Given the description of an element on the screen output the (x, y) to click on. 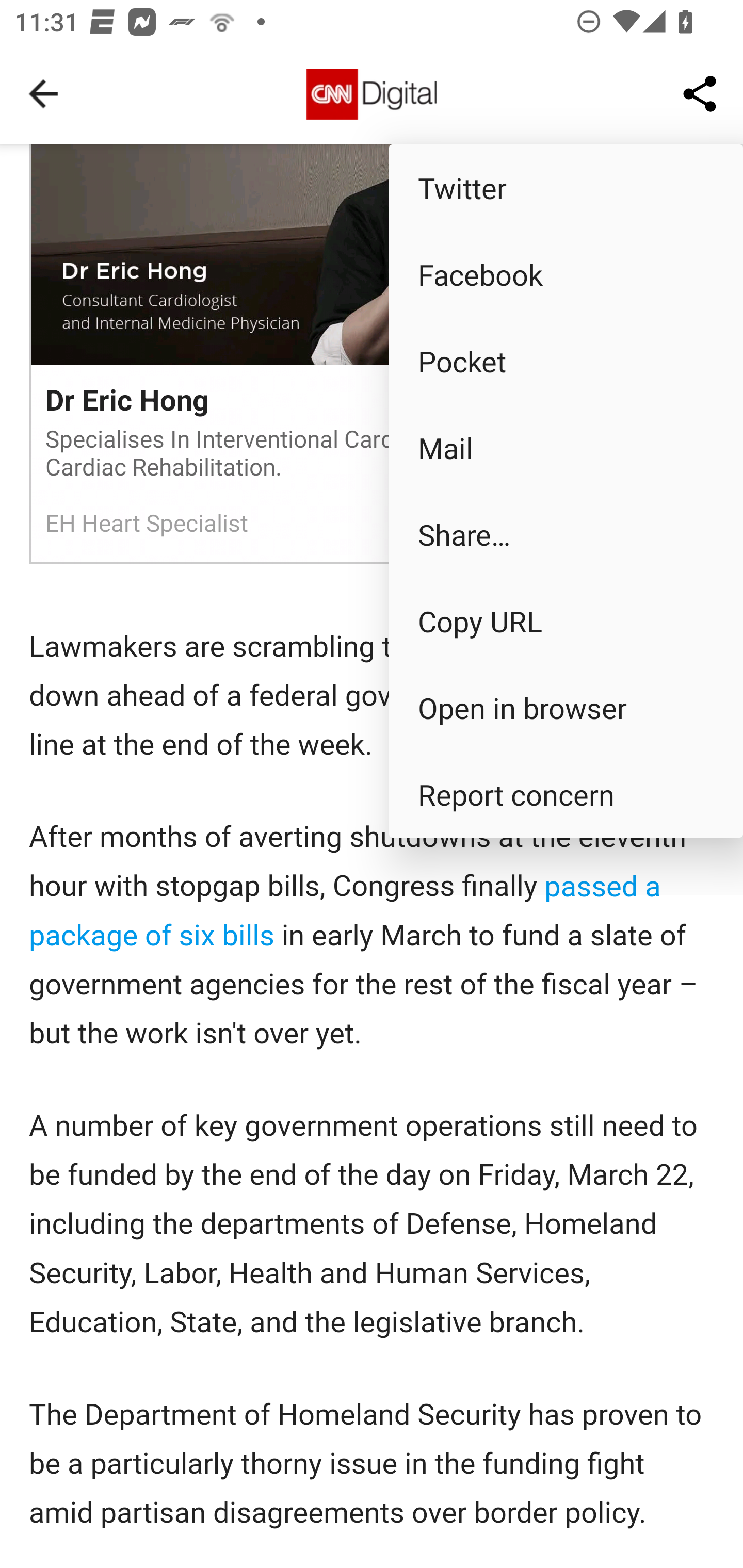
Twitter (566, 187)
Facebook (566, 274)
Pocket (566, 361)
Mail (566, 447)
Share… (566, 533)
Copy URL (566, 620)
Open in browser (566, 707)
Report concern (566, 794)
